Given the description of an element on the screen output the (x, y) to click on. 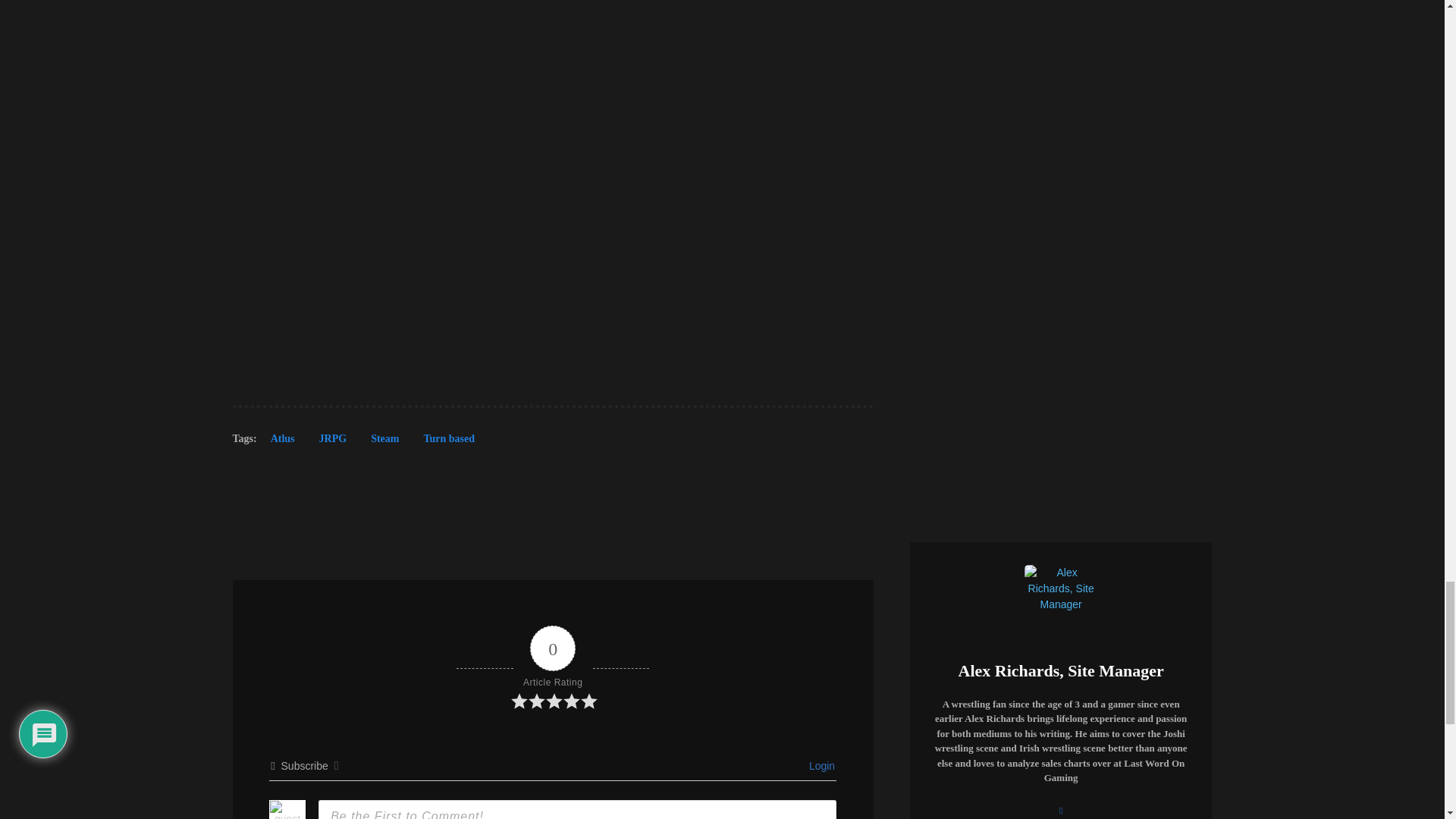
Turn based (448, 442)
Steam (384, 442)
Atlus (282, 442)
JRPG (333, 442)
